Given the description of an element on the screen output the (x, y) to click on. 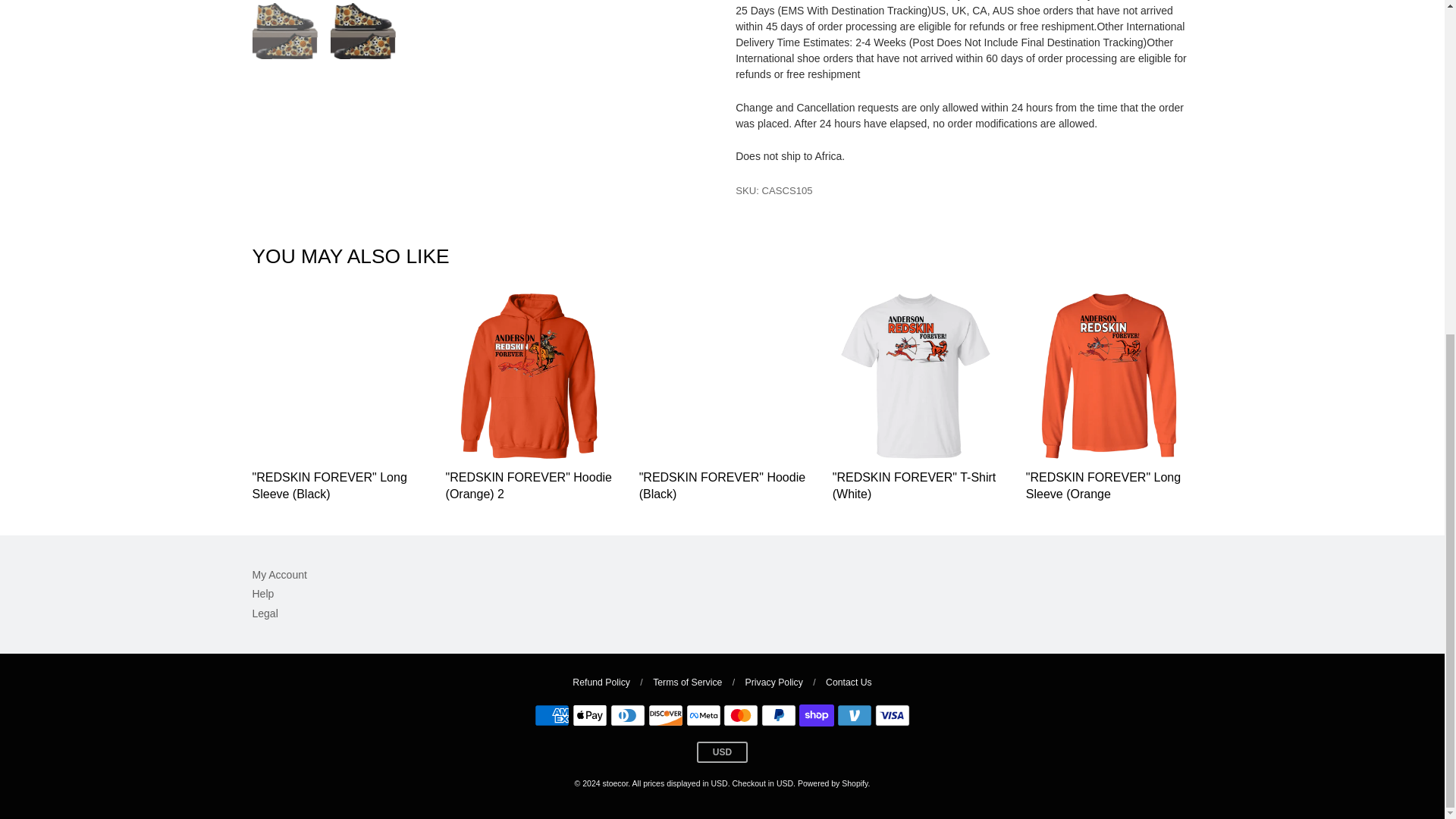
Meta Pay (702, 714)
Mastercard (740, 714)
Apple Pay (589, 714)
Shop Pay (816, 714)
Sports Ball Patterns - Kids Hightop (363, 243)
Sports Ball Patterns - Kids Hightop (479, 99)
Venmo (854, 714)
Sports Ball Patterns - Kids Hightop (284, 243)
PayPal (778, 714)
American Express (551, 714)
Diners Club (627, 714)
Discover (664, 714)
Visa (892, 714)
